Given the description of an element on the screen output the (x, y) to click on. 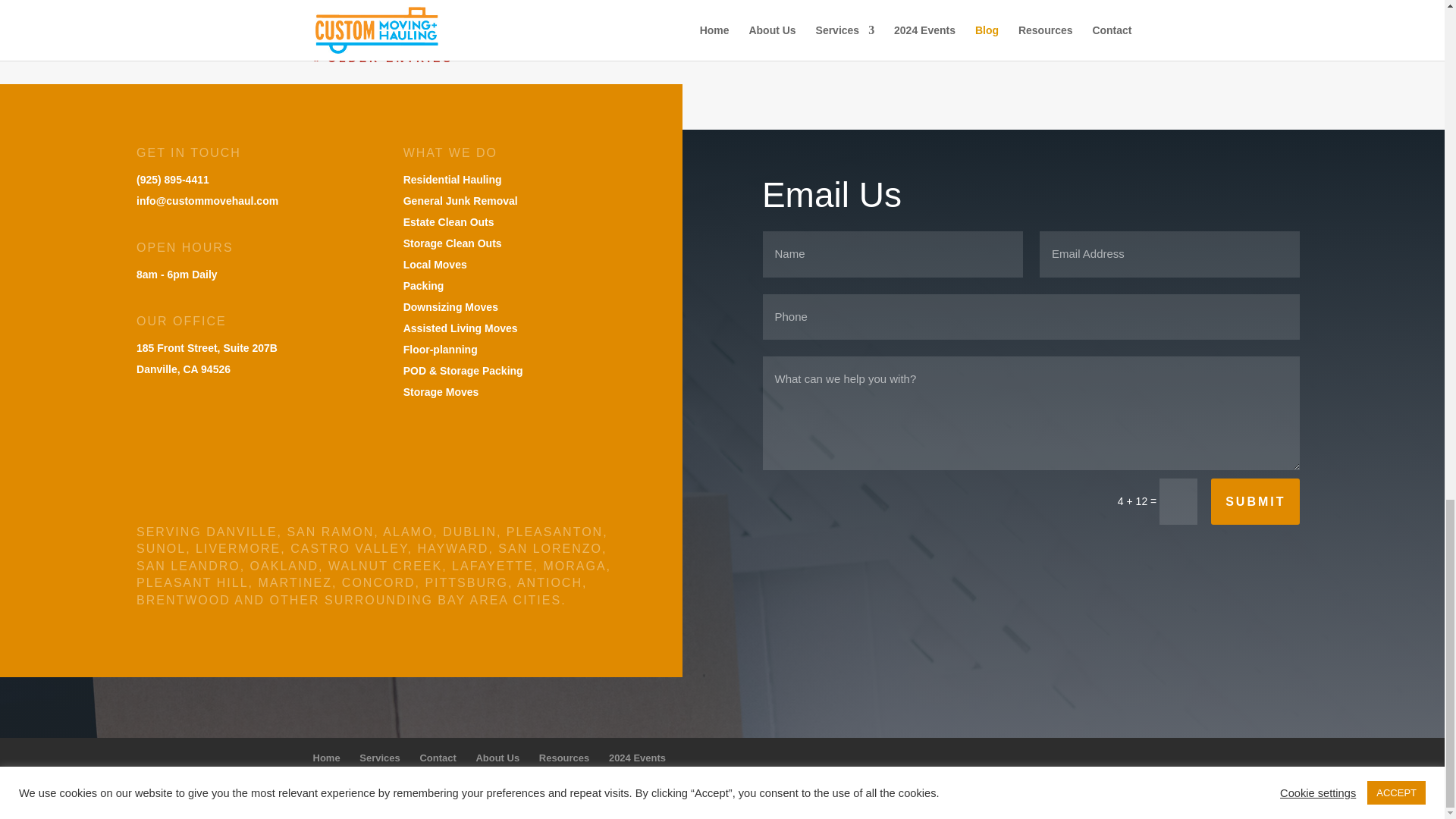
read more (354, 3)
